Given the description of an element on the screen output the (x, y) to click on. 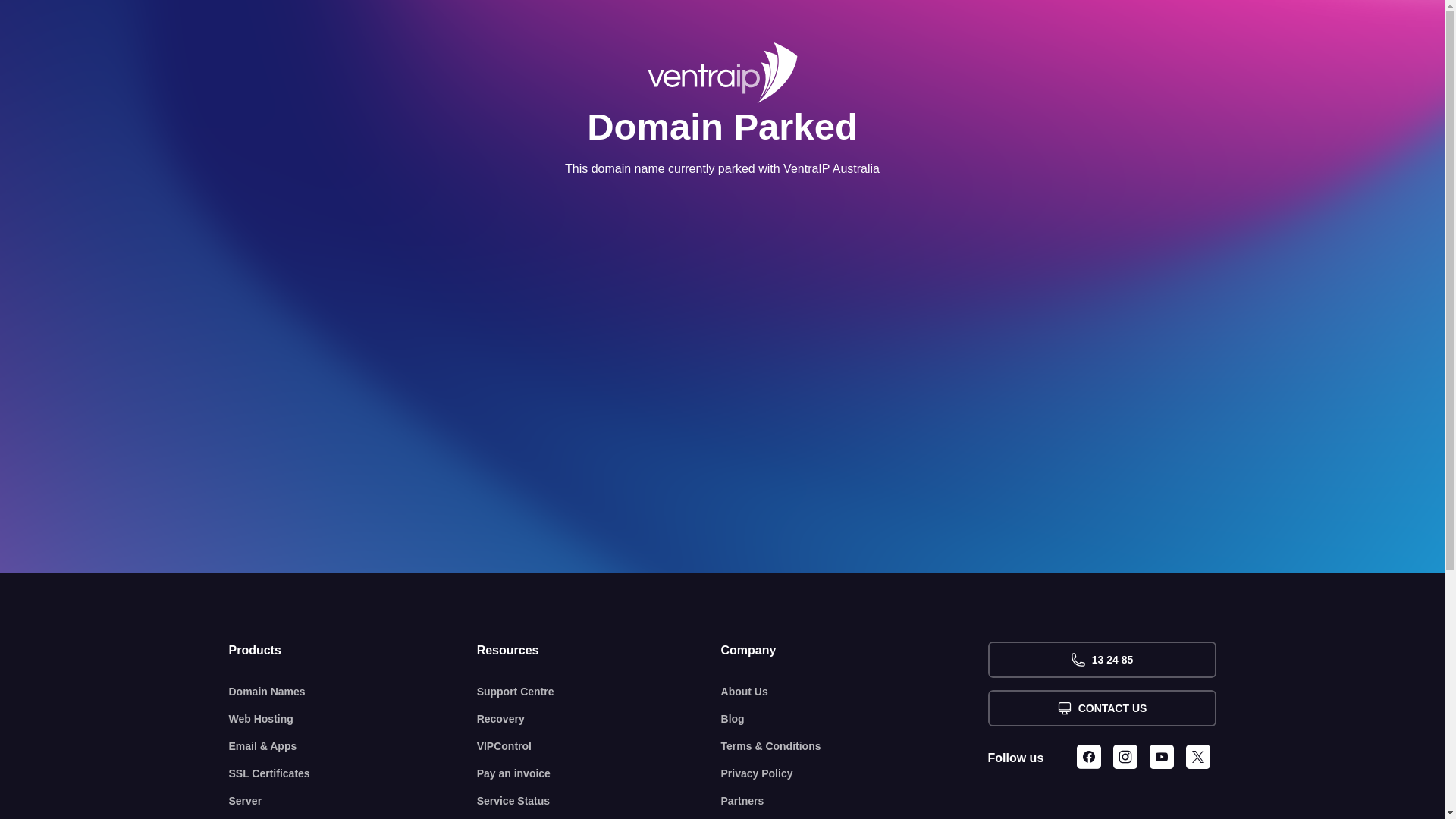
Email & Apps Element type: text (352, 745)
Domain Names Element type: text (352, 691)
13 24 85 Element type: text (1101, 659)
Pay an invoice Element type: text (598, 773)
Recovery Element type: text (598, 718)
Web Hosting Element type: text (352, 718)
Support Centre Element type: text (598, 691)
About Us Element type: text (854, 691)
Blog Element type: text (854, 718)
Server Element type: text (352, 800)
CONTACT US Element type: text (1101, 708)
SSL Certificates Element type: text (352, 773)
Partners Element type: text (854, 800)
Service Status Element type: text (598, 800)
VIPControl Element type: text (598, 745)
Terms & Conditions Element type: text (854, 745)
Privacy Policy Element type: text (854, 773)
